Given the description of an element on the screen output the (x, y) to click on. 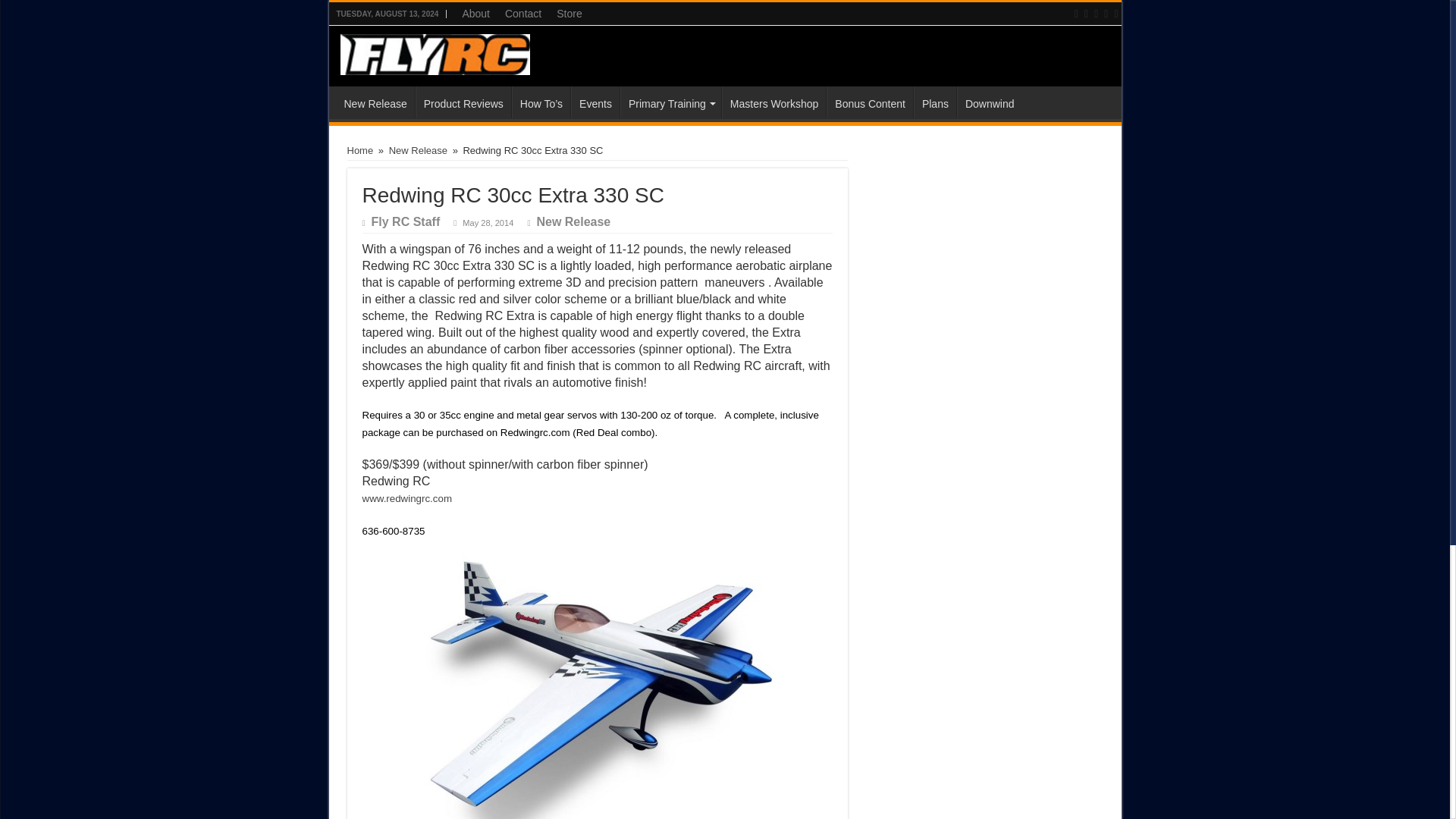
Plans (935, 101)
Product Reviews (462, 101)
Home (360, 150)
New Release (417, 150)
New Release (572, 221)
About (475, 13)
Downwind (989, 101)
New Release (375, 101)
www.redwingrc.com (407, 498)
Bonus Content (869, 101)
